Given the description of an element on the screen output the (x, y) to click on. 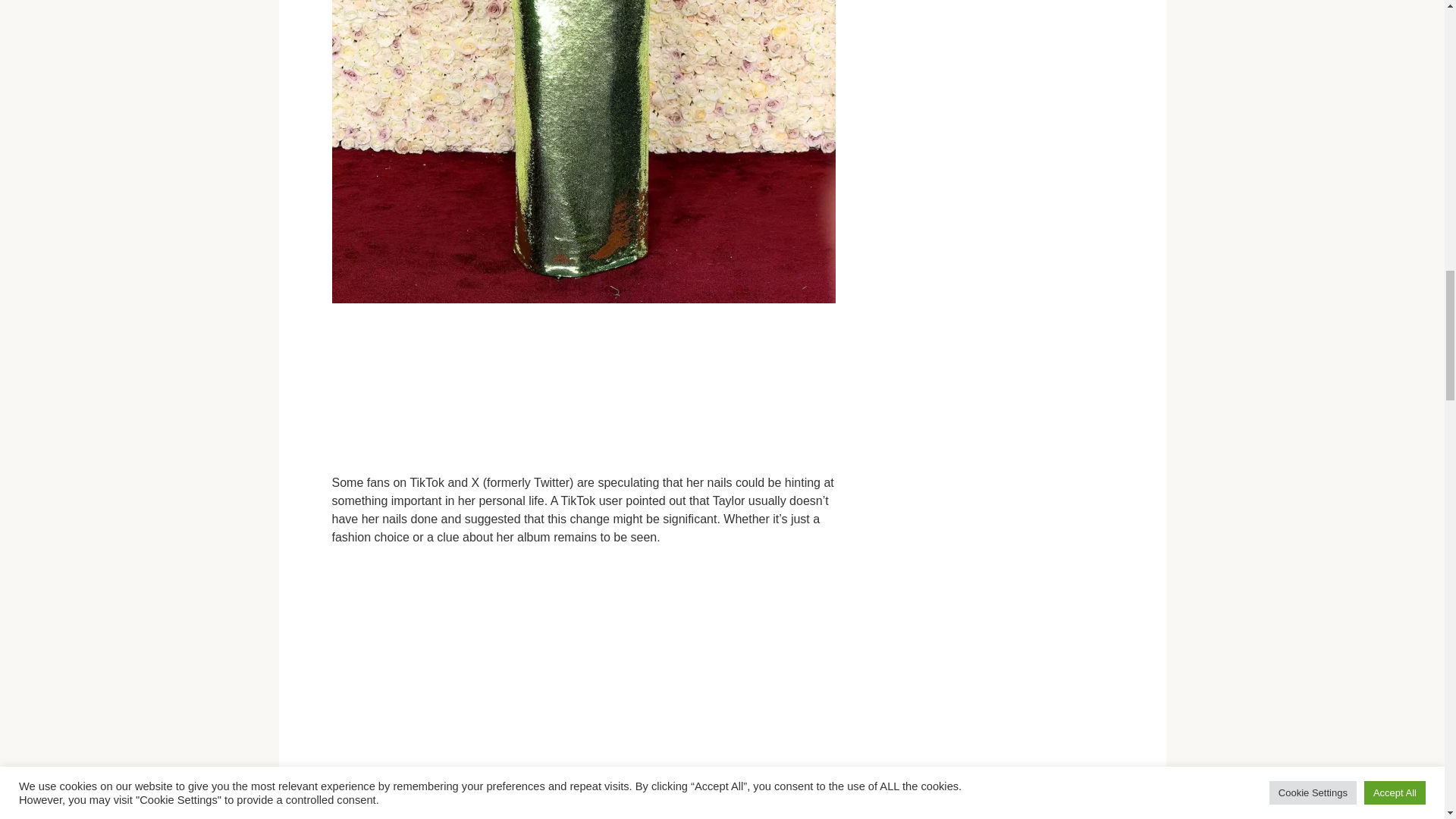
Advertisement (585, 391)
